Given the description of an element on the screen output the (x, y) to click on. 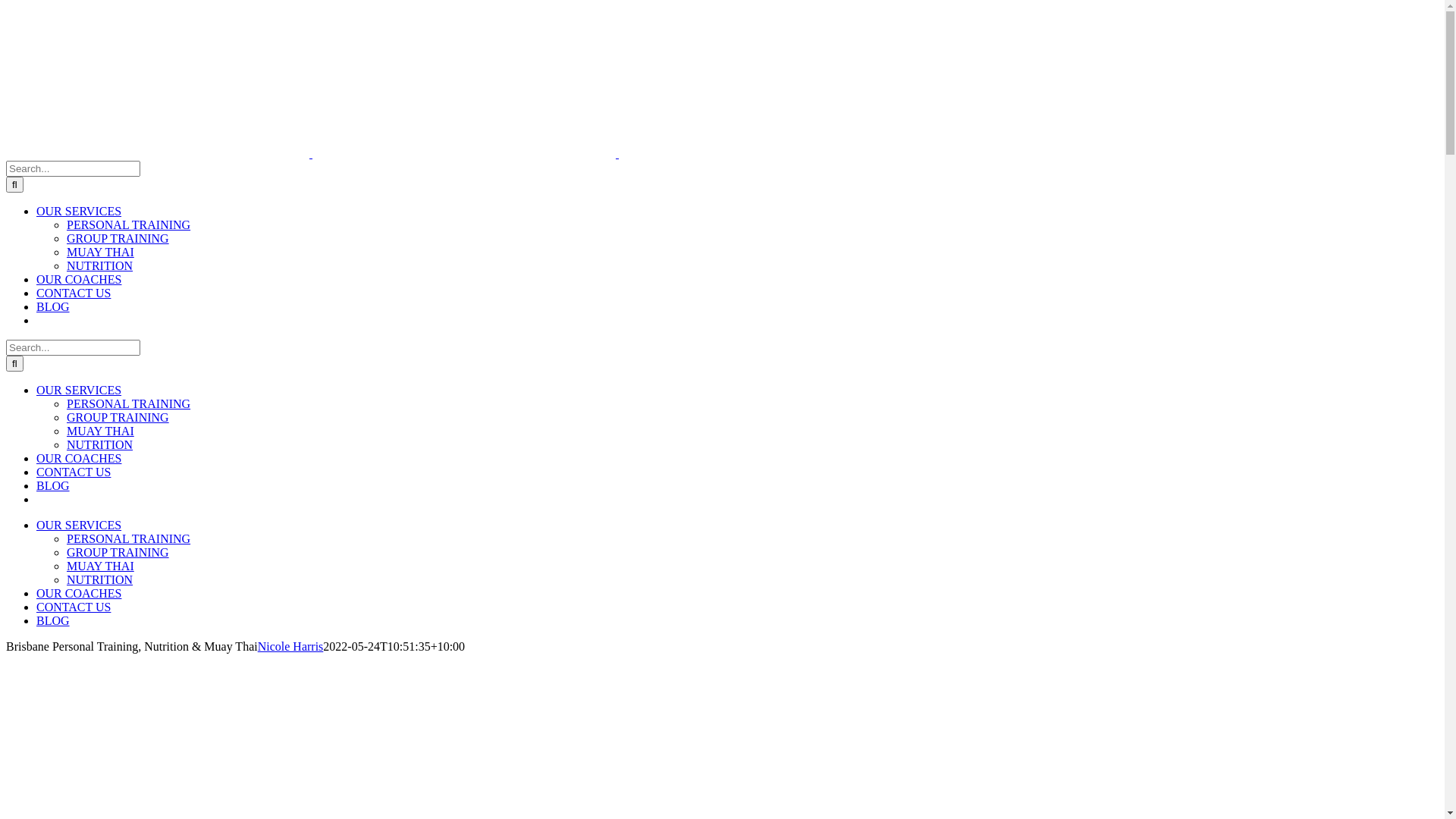
MUAY THAI Element type: text (100, 565)
NUTRITION Element type: text (99, 444)
OUR COACHES Element type: text (78, 279)
PERSONAL TRAINING Element type: text (128, 403)
MUAY THAI Element type: text (100, 251)
OUR SERVICES Element type: text (78, 524)
GROUP TRAINING Element type: text (117, 417)
MUAY THAI Element type: text (100, 430)
OUR COACHES Element type: text (78, 457)
GROUP TRAINING Element type: text (117, 238)
CONTACT US Element type: text (73, 292)
OUR SERVICES Element type: text (78, 210)
PERSONAL TRAINING Element type: text (128, 538)
OUR COACHES Element type: text (78, 592)
Skip to content Element type: text (5, 5)
BLOG Element type: text (52, 620)
Nicole Harris Element type: text (290, 646)
BLOG Element type: text (52, 485)
OUR SERVICES Element type: text (78, 389)
NUTRITION Element type: text (99, 265)
NUTRITION Element type: text (99, 579)
PERSONAL TRAINING Element type: text (128, 224)
BLOG Element type: text (52, 306)
GROUP TRAINING Element type: text (117, 552)
CONTACT US Element type: text (73, 471)
CONTACT US Element type: text (73, 606)
